Given the description of an element on the screen output the (x, y) to click on. 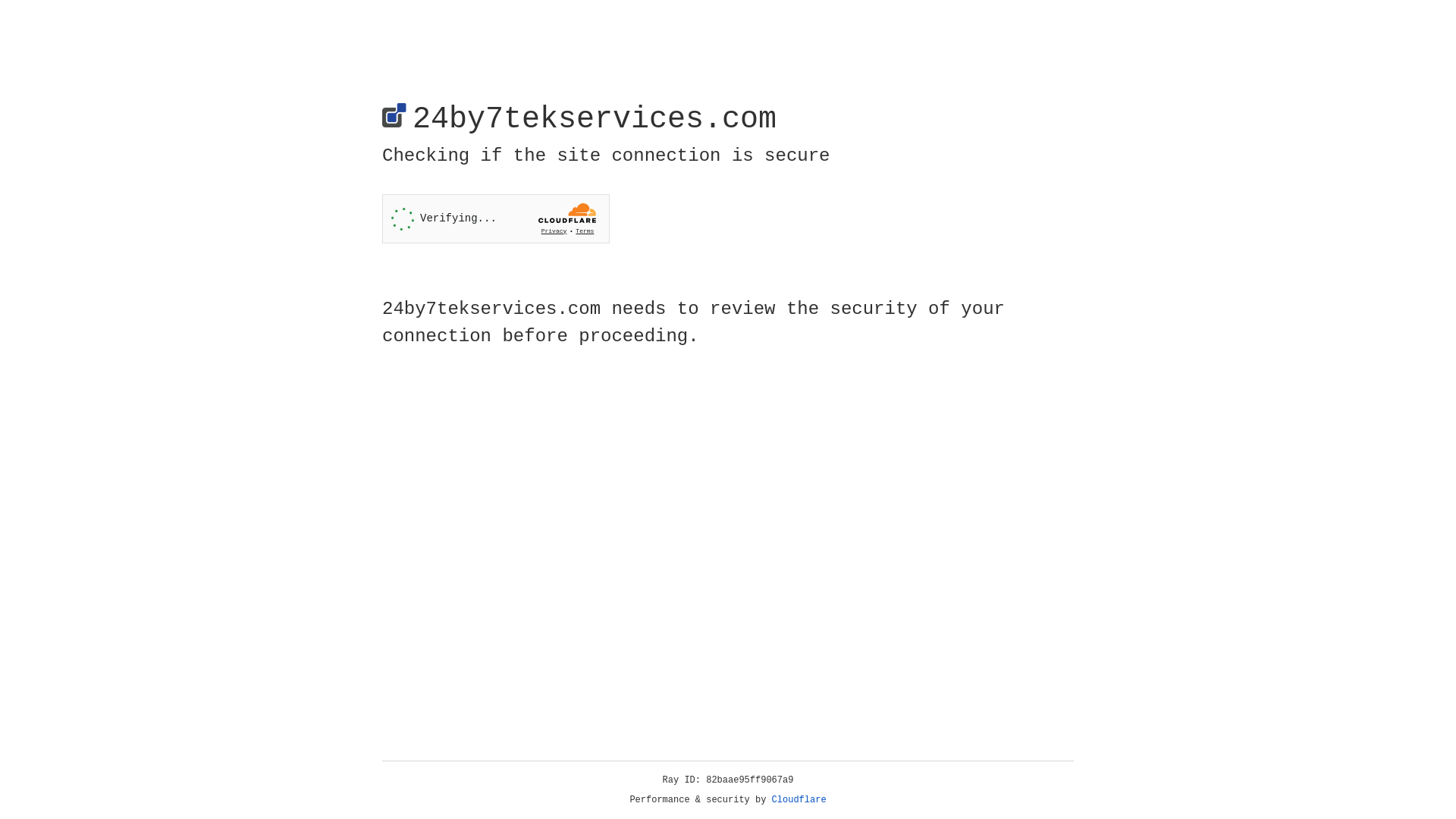
Cloudflare Element type: text (798, 799)
Widget containing a Cloudflare security challenge Element type: hover (495, 218)
